Given the description of an element on the screen output the (x, y) to click on. 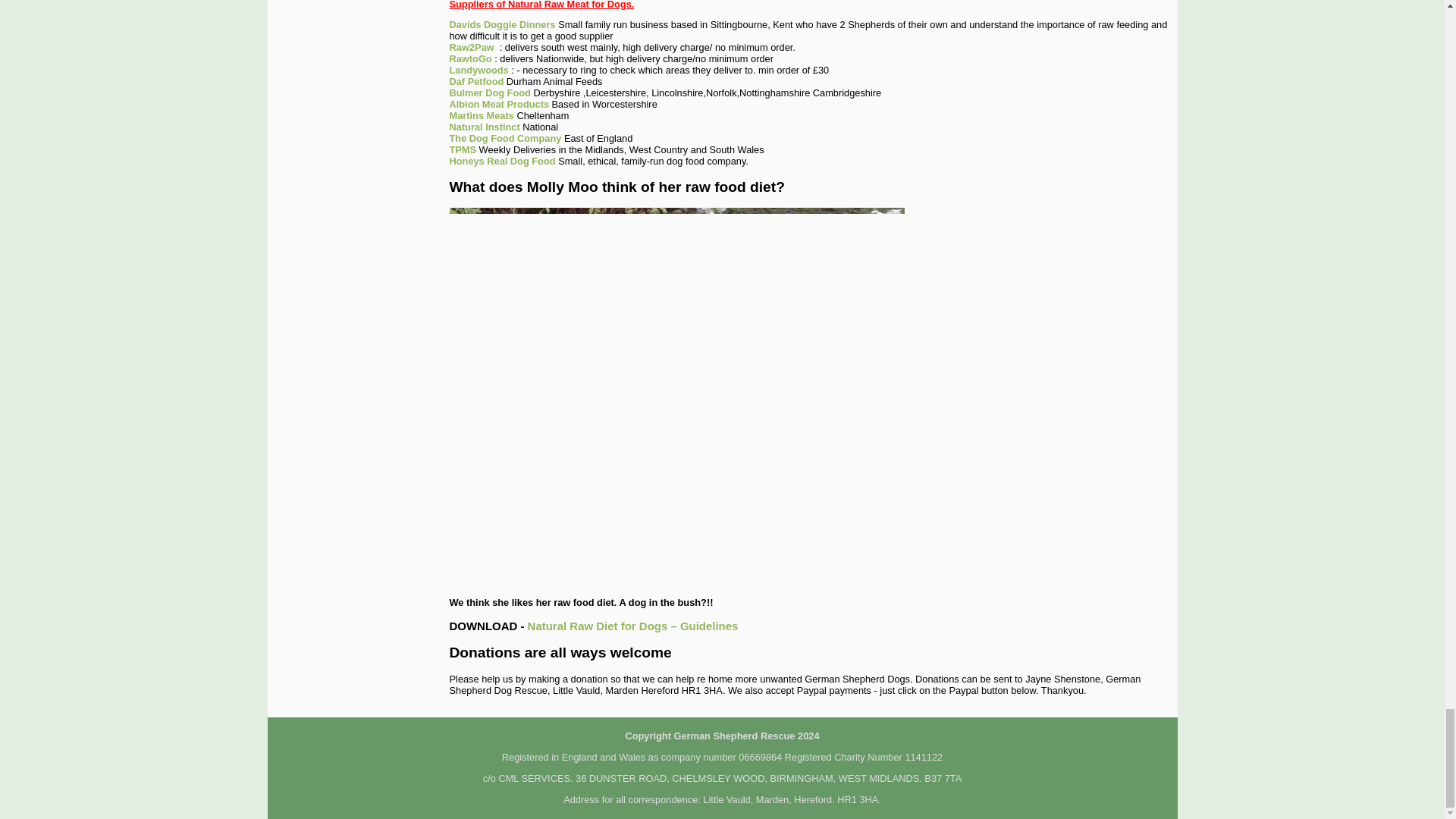
RawtoGo (470, 58)
Raw2Paw (470, 47)
Daf Petfood (475, 81)
Natural Instinct (483, 126)
Martins Meats (480, 115)
Landywoods (478, 70)
Bulmer Dog Food (488, 92)
Davids Doggie Dinners (501, 24)
Albion Meat Products (498, 103)
